Given the description of an element on the screen output the (x, y) to click on. 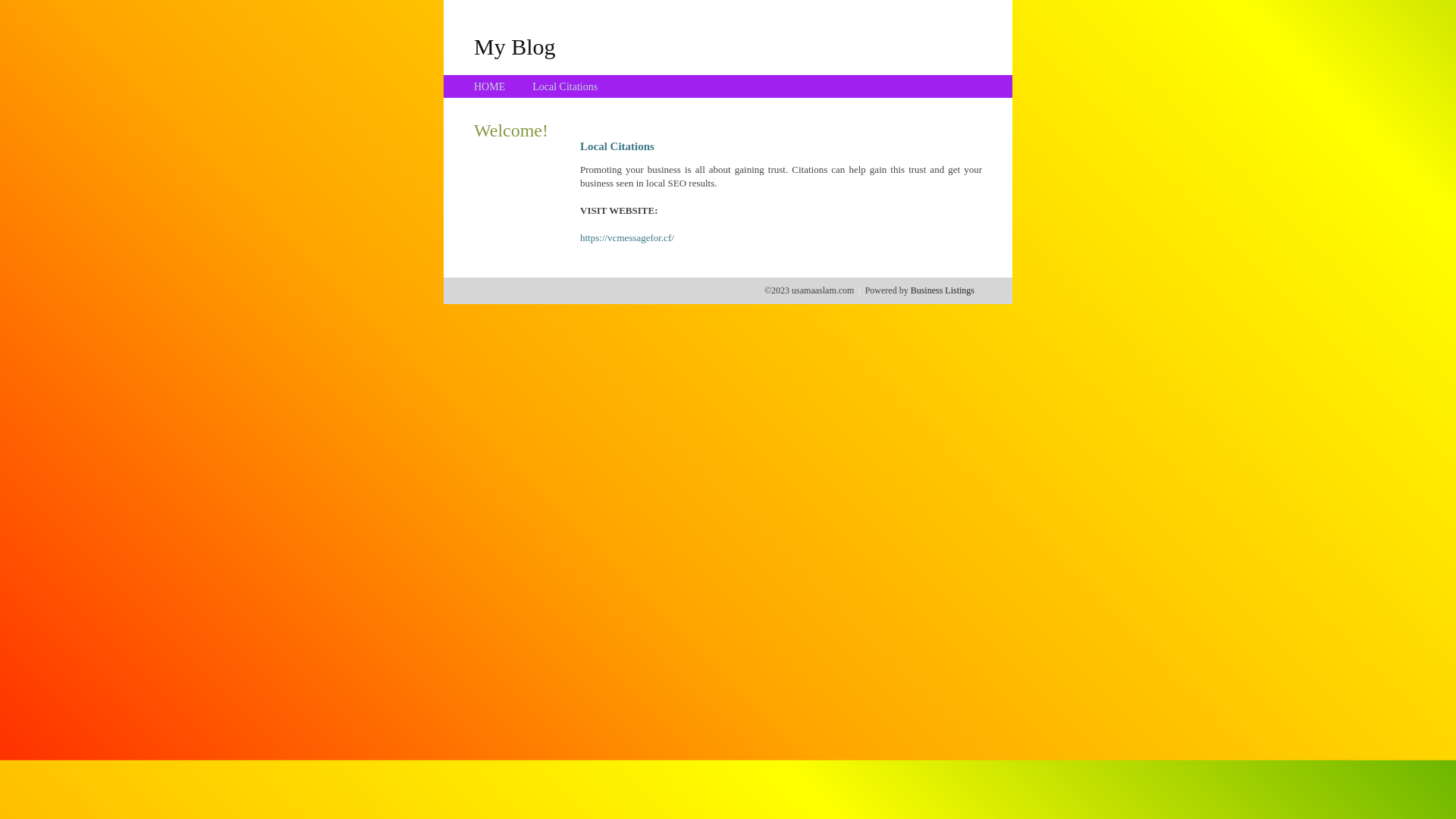
https://vcmessagefor.cf/ Element type: text (627, 237)
My Blog Element type: text (514, 46)
Business Listings Element type: text (942, 290)
HOME Element type: text (489, 86)
Local Citations Element type: text (564, 86)
